Given the description of an element on the screen output the (x, y) to click on. 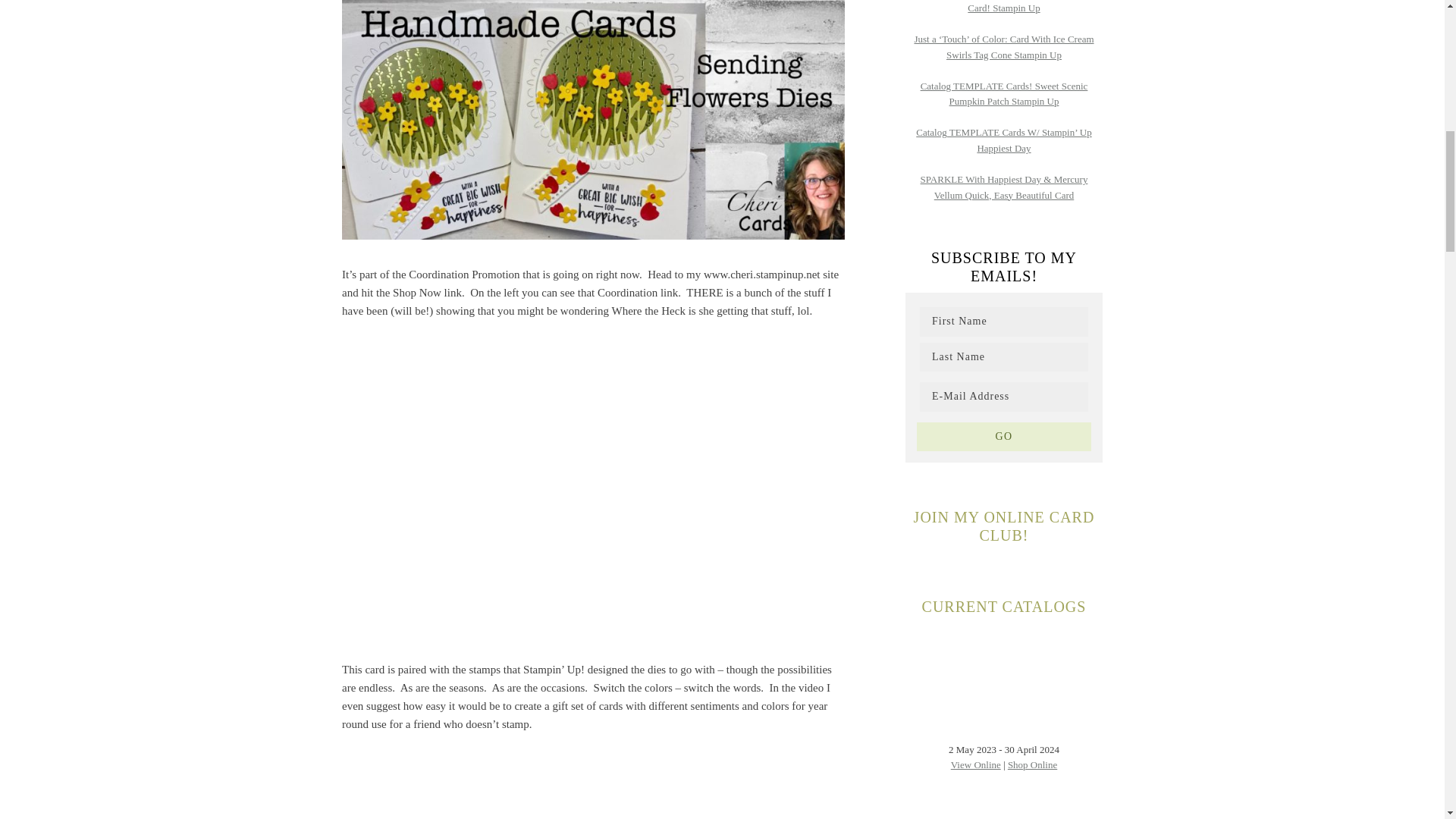
Go (1003, 435)
